Given the description of an element on the screen output the (x, y) to click on. 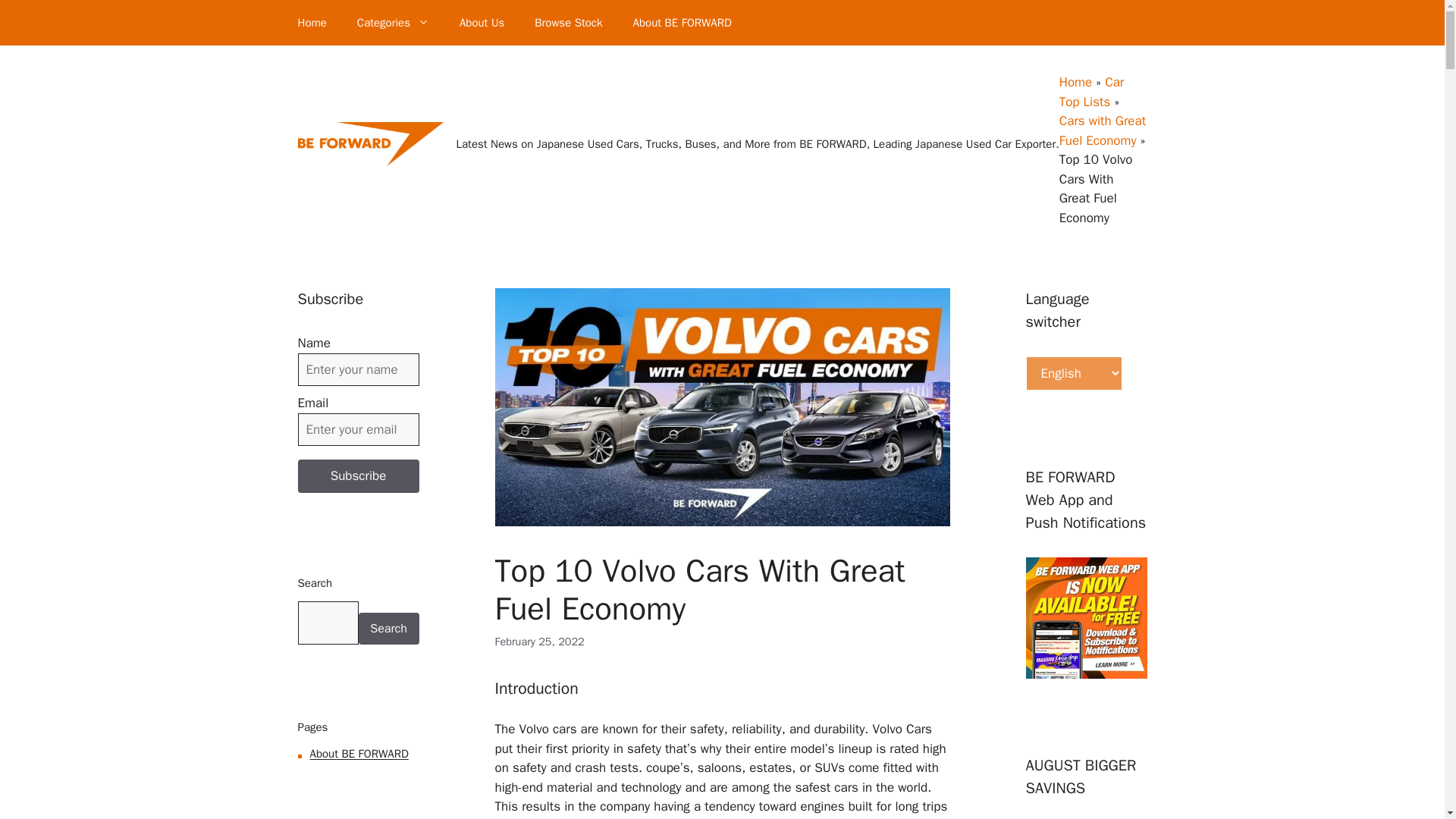
Categories (393, 22)
Home (311, 22)
Cars with Great Fuel Economy (1102, 130)
Car Top Lists (1091, 91)
Home (1075, 82)
Home (311, 22)
About Us (481, 22)
About us (481, 22)
Stock (568, 22)
Browse Stock (568, 22)
About BE FORWARD (681, 22)
Subscribe (358, 476)
